Given the description of an element on the screen output the (x, y) to click on. 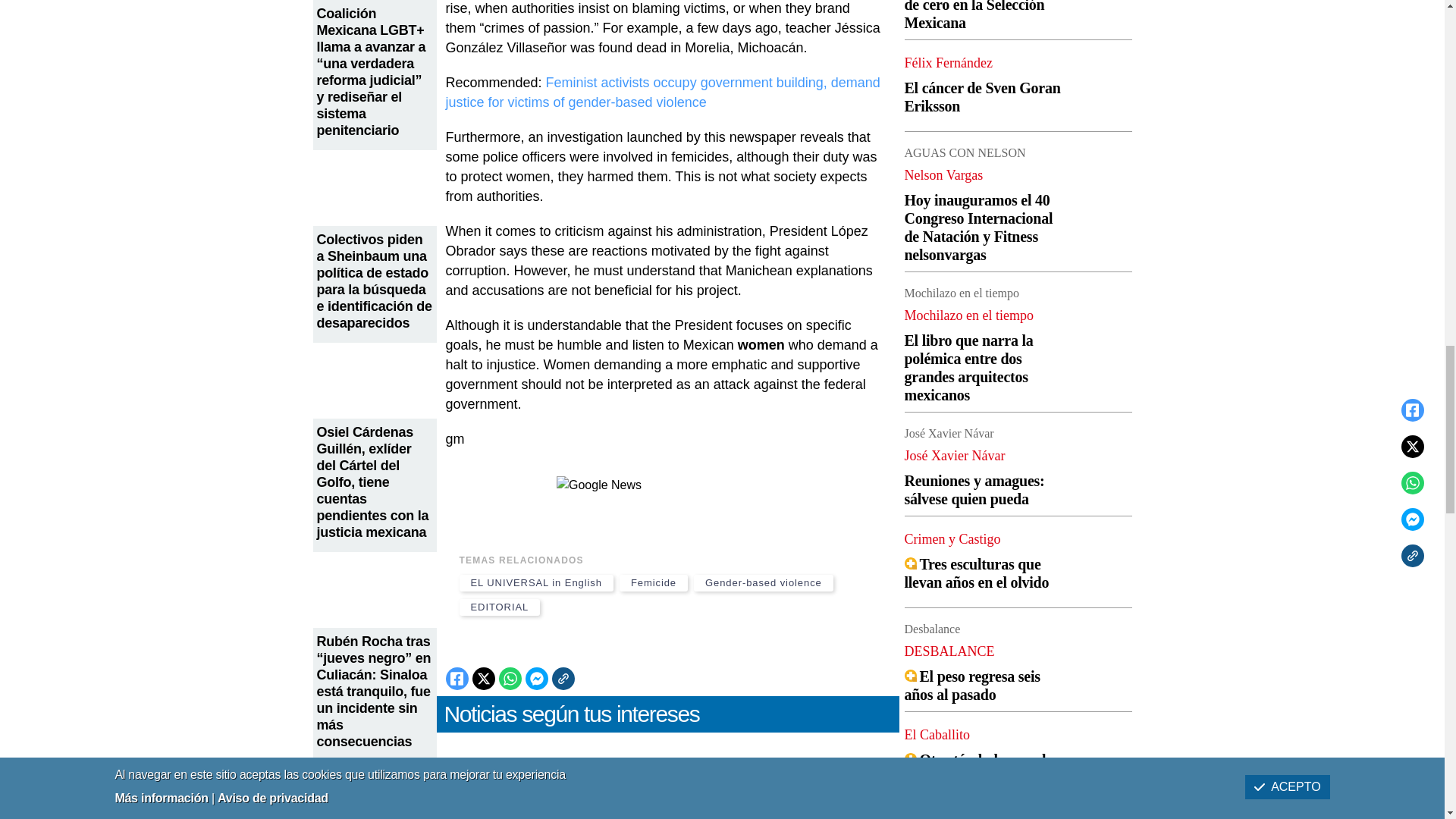
Compartir en WhatsApp (510, 678)
Compartir en Messenger (535, 678)
Compartir en facebook (456, 678)
Compartir en X (483, 678)
